Given the description of an element on the screen output the (x, y) to click on. 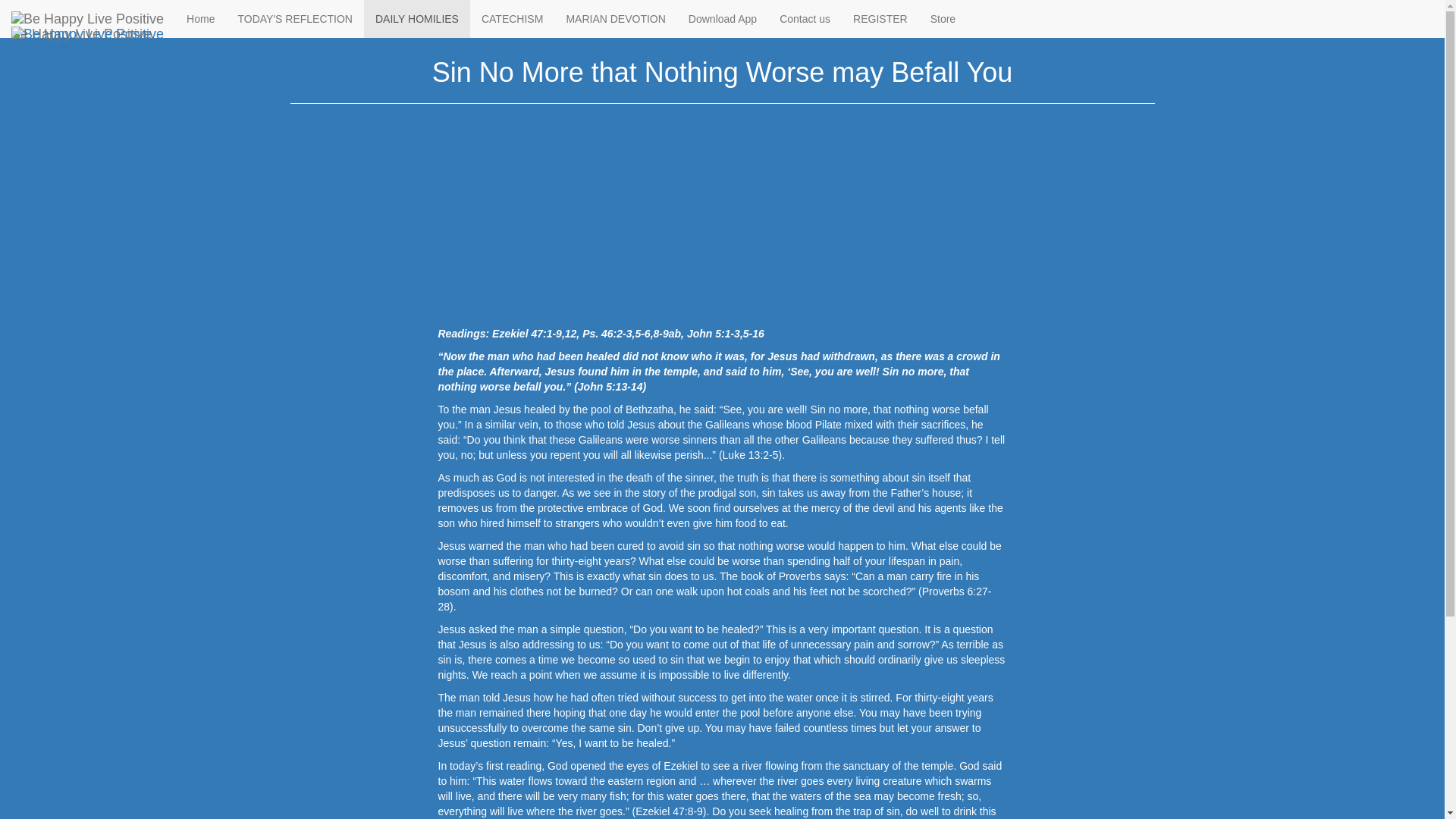
Home (199, 18)
TODAY'S REFLECTION (294, 18)
Home (303, 12)
CATECHISM (512, 18)
DAILY HOMILIES (372, 12)
Download App (722, 18)
REGISTER (879, 18)
Contact us (804, 18)
Store (942, 18)
DAILY HOMILIES (417, 18)
